Given the description of an element on the screen output the (x, y) to click on. 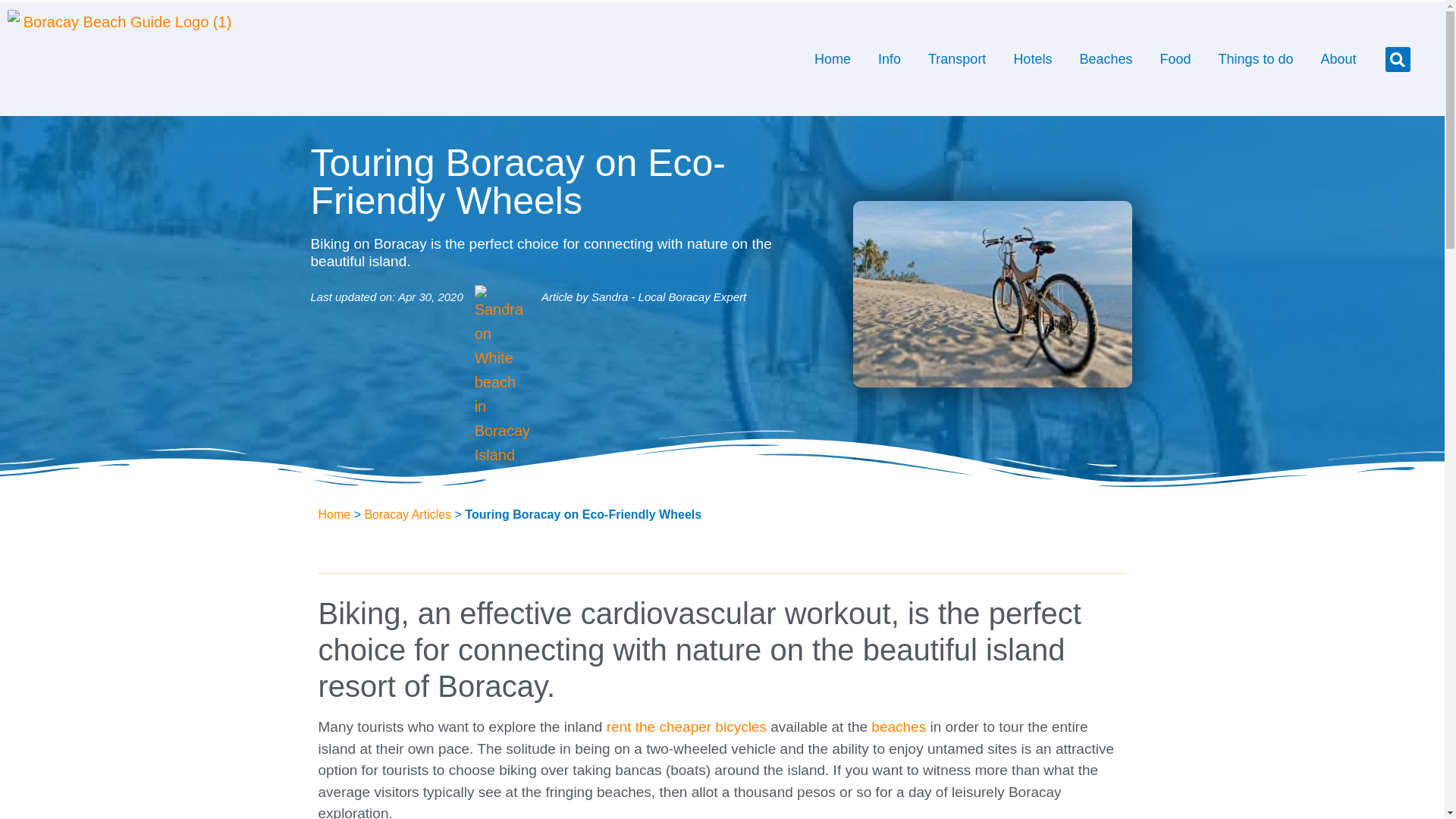
Things to do (1255, 58)
Home (832, 58)
Beaches (1105, 58)
Info (889, 58)
Transport (956, 58)
About (1338, 58)
Food (1174, 58)
Hotels (1031, 58)
